Given the description of an element on the screen output the (x, y) to click on. 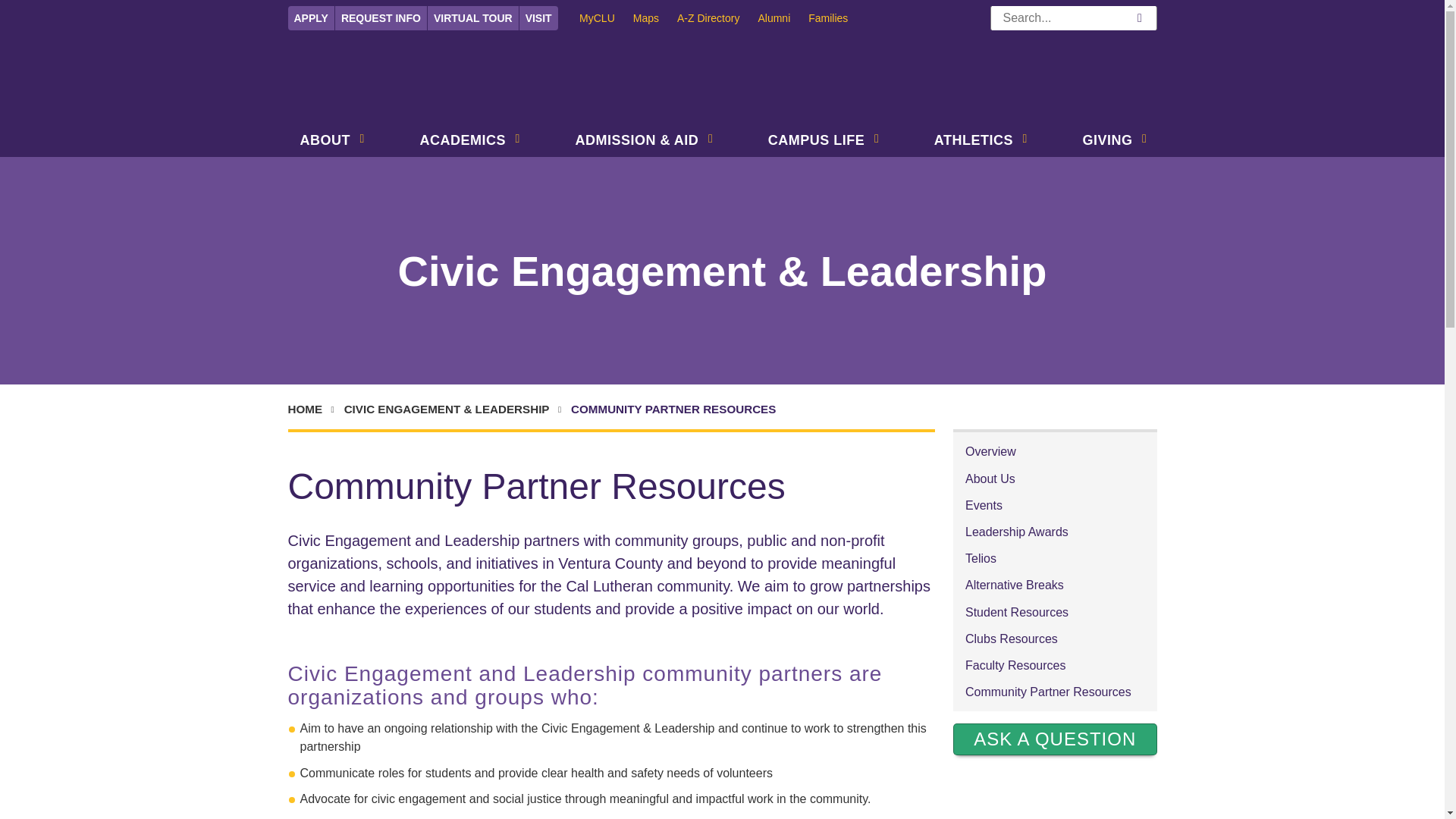
A-Z Directory (717, 17)
VISIT (538, 17)
ABOUT (322, 141)
REQUEST INFO (380, 17)
ACADEMICS (459, 141)
home (314, 409)
APPLY (311, 17)
Alumni (782, 17)
VIRTUAL TOUR (473, 17)
MyCLU (606, 17)
